Given the description of an element on the screen output the (x, y) to click on. 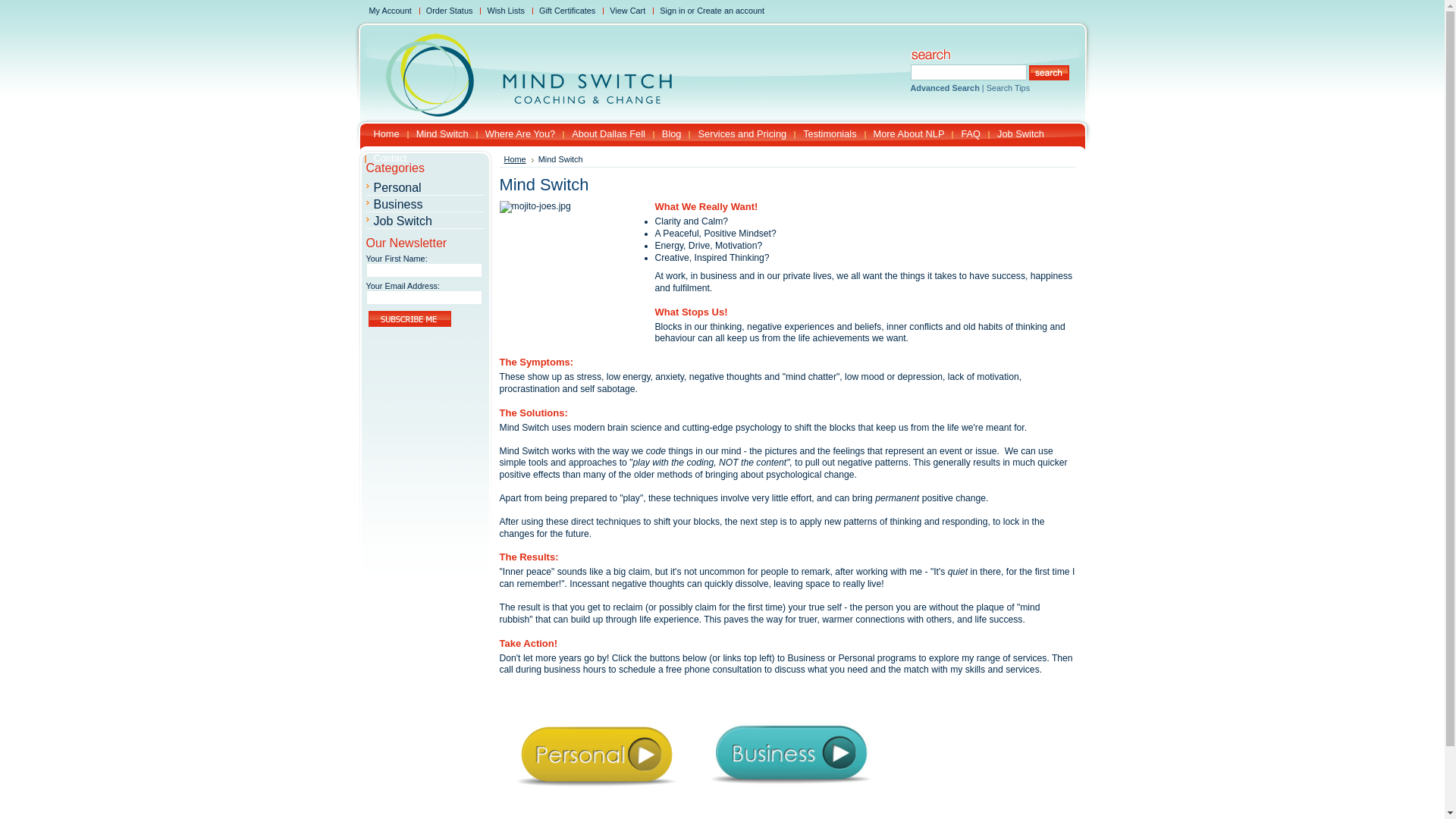
Gift Certificates Element type: text (568, 10)
My Account Element type: text (392, 10)
Testimonials Element type: text (824, 134)
Where Are You? Element type: text (515, 134)
Order Status Element type: text (451, 10)
mojito-joes.jpg Element type: hover (566, 275)
Personal Element type: text (396, 187)
Mind Switch Element type: text (437, 134)
personalbutton.png Element type: hover (595, 755)
Sign in Element type: text (671, 10)
Services and Pricing Element type: text (737, 134)
Job Switch Element type: text (1016, 134)
About Dallas Fell Element type: text (603, 134)
Blog Element type: text (666, 134)
Wish Lists Element type: text (507, 10)
Home Element type: text (518, 158)
Create an account Element type: text (730, 10)
business-button.png Element type: hover (789, 755)
Home Element type: text (381, 134)
More About NLP Element type: text (904, 134)
Advanced Search Element type: text (944, 87)
Contact Element type: text (385, 158)
Job Switch Element type: text (402, 220)
Search Tips Element type: text (1007, 87)
Business Element type: text (397, 203)
View Cart Element type: text (628, 10)
FAQ Element type: text (965, 134)
